Given the description of an element on the screen output the (x, y) to click on. 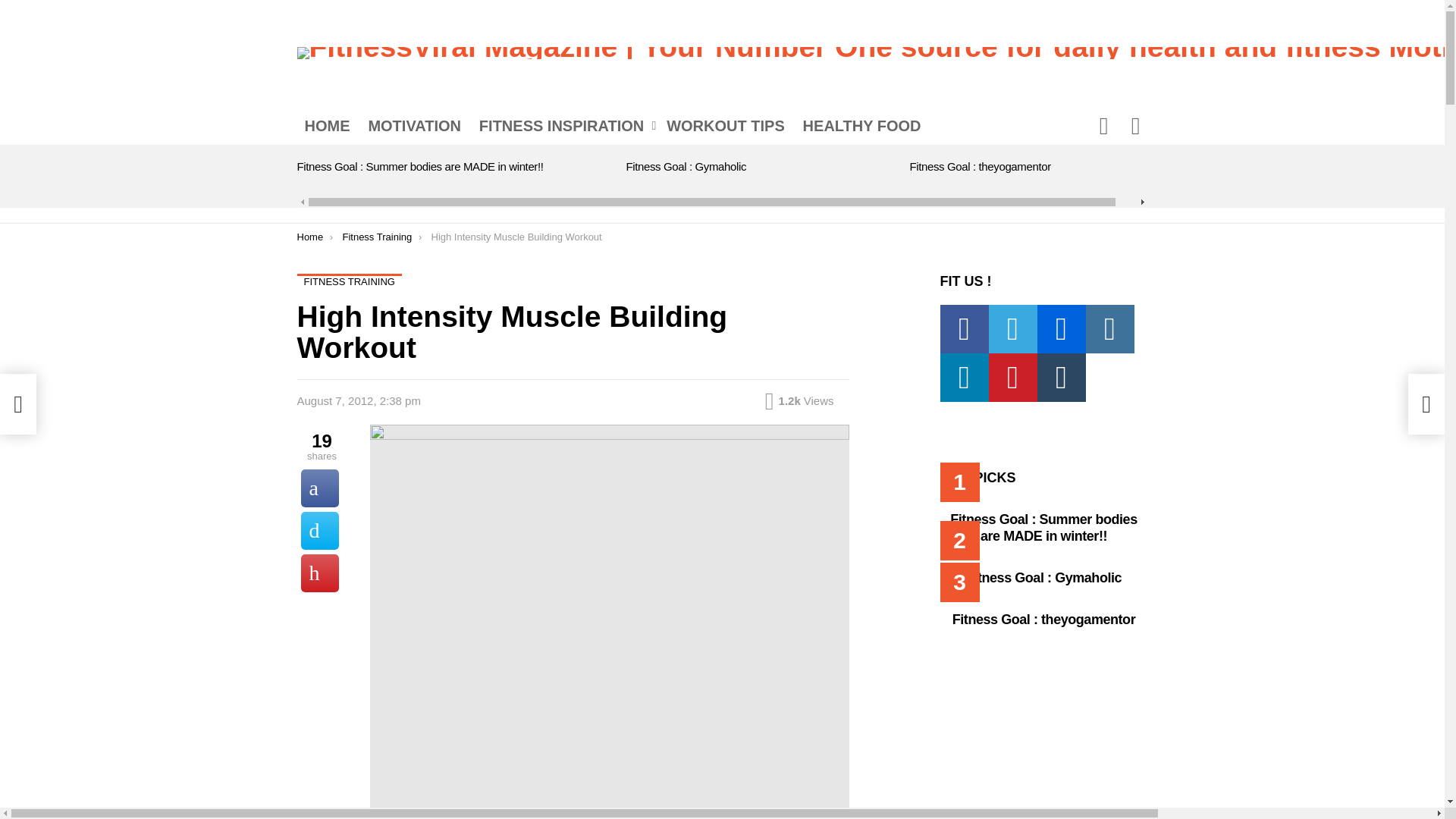
Fitness Goal : Summer bodies are MADE in winter!! (420, 165)
HEALTHY FOOD (861, 125)
Share on Tweet (318, 530)
WORKOUT TIPS (725, 125)
Share on Share (318, 487)
HOME (327, 125)
Share on Pinterest (318, 573)
FITNESS INSPIRATION (563, 125)
Fitness Goal : Gymaholic (686, 165)
Fitness Goal : theyogamentor (980, 165)
